Given the description of an element on the screen output the (x, y) to click on. 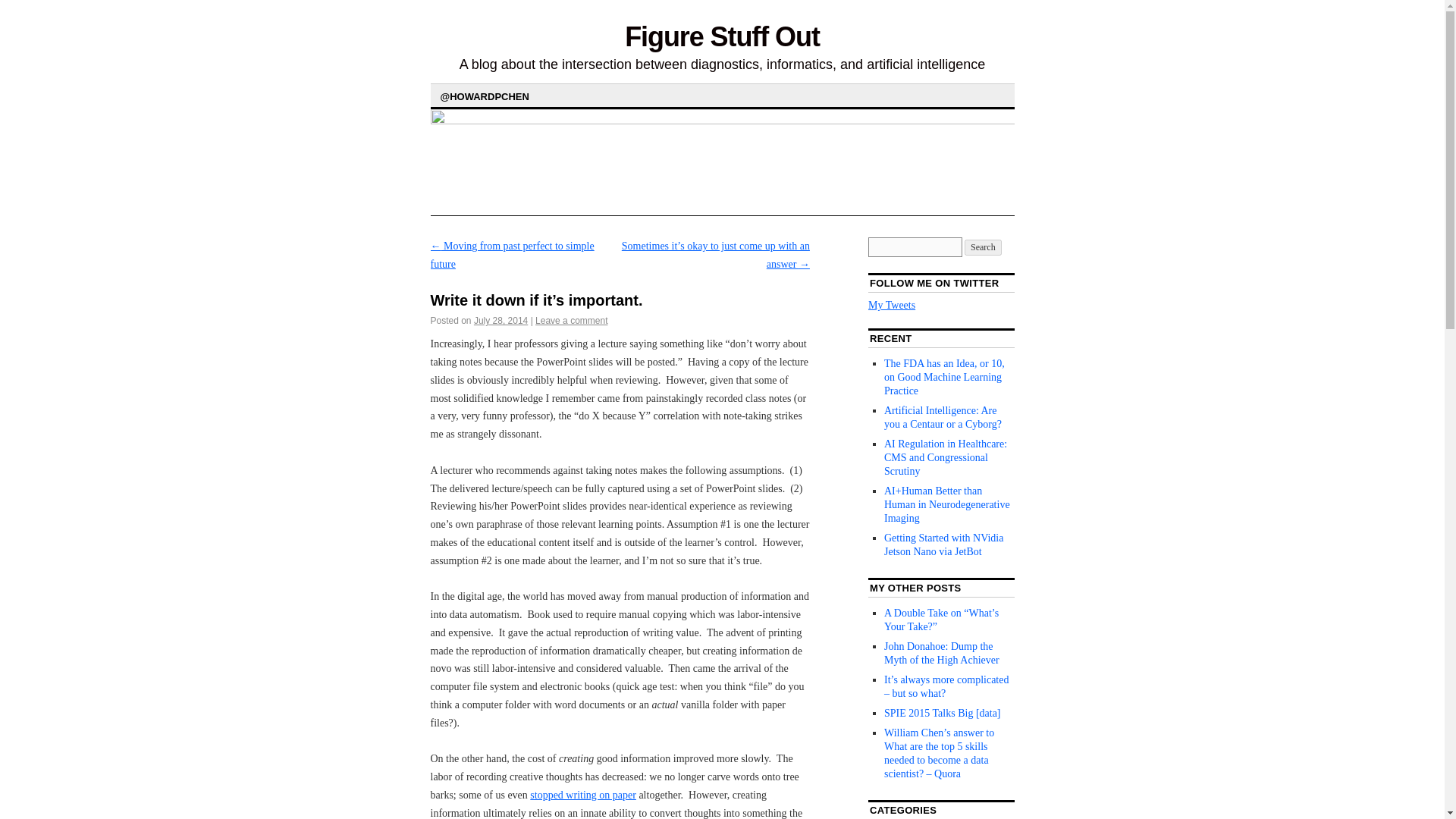
My Tweets (891, 305)
AI Regulation in Healthcare: CMS and Congressional Scrutiny (945, 457)
Figure Stuff Out (721, 36)
Search (982, 247)
Artificial Intelligence: Are you a Centaur or a Cyborg? (942, 416)
Search (982, 247)
July 28, 2014 (500, 320)
stopped writing on paper (582, 794)
John Donahoe: Dump the Myth of the High Achiever (940, 652)
